Given the description of an element on the screen output the (x, y) to click on. 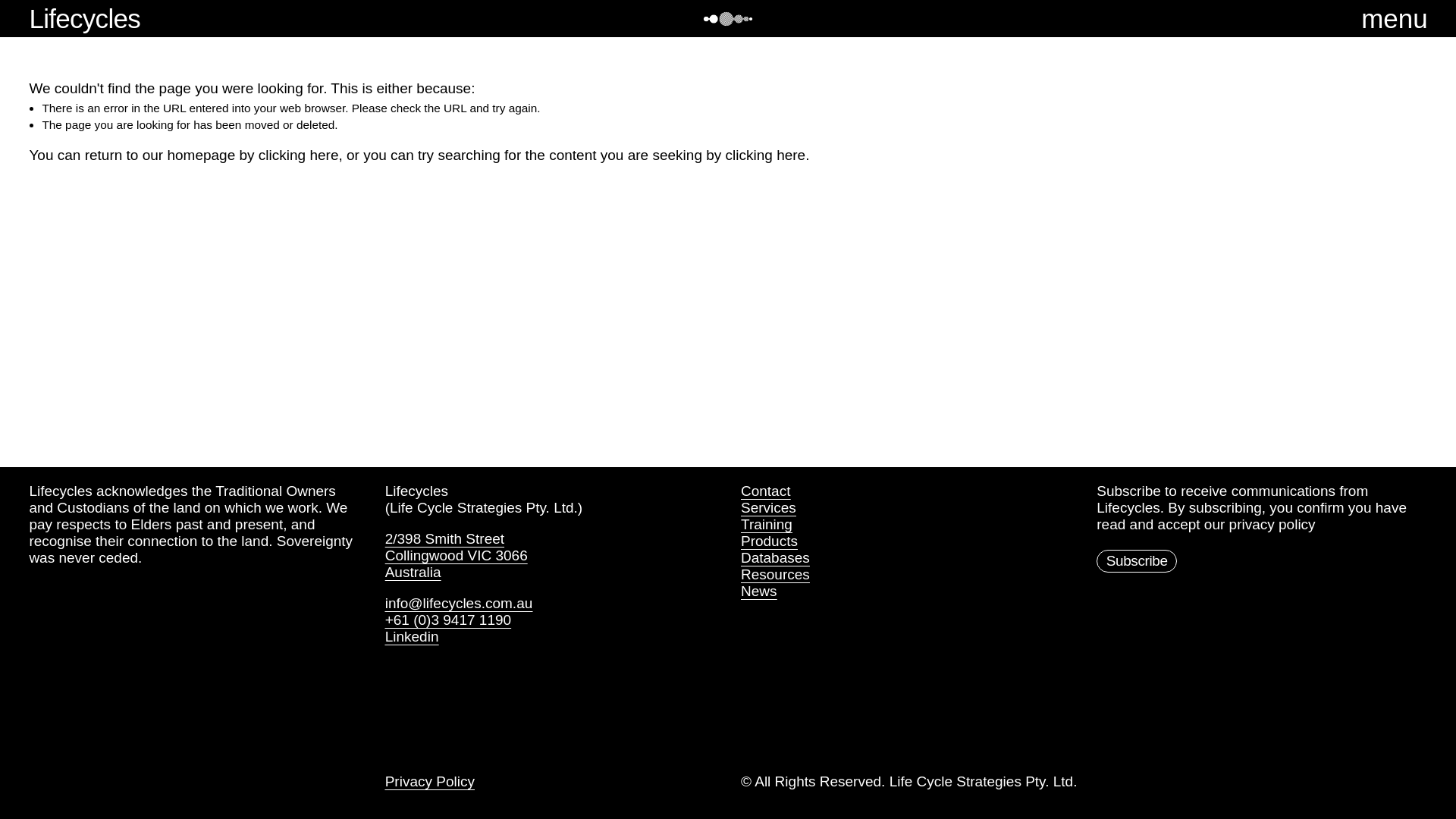
Open Menu Element type: text (1409, 18)
Linkedin Element type: text (412, 636)
News Element type: text (758, 591)
clicking here Element type: text (298, 155)
Services Element type: text (768, 507)
Subscribe Element type: text (1136, 560)
clicking here Element type: text (765, 155)
Resources Element type: text (774, 574)
Training Element type: text (766, 524)
Privacy Policy Element type: text (429, 781)
info@lifecycles.com.au Element type: text (459, 603)
Contact Element type: text (765, 491)
Databases Element type: text (774, 557)
+61 (0)3 9417 1190 Element type: text (448, 619)
Lifecycles Element type: text (84, 18)
Products Element type: text (768, 541)
2/398 Smith Street
Collingwood VIC 3066
Australia Element type: text (456, 555)
